Given the description of an element on the screen output the (x, y) to click on. 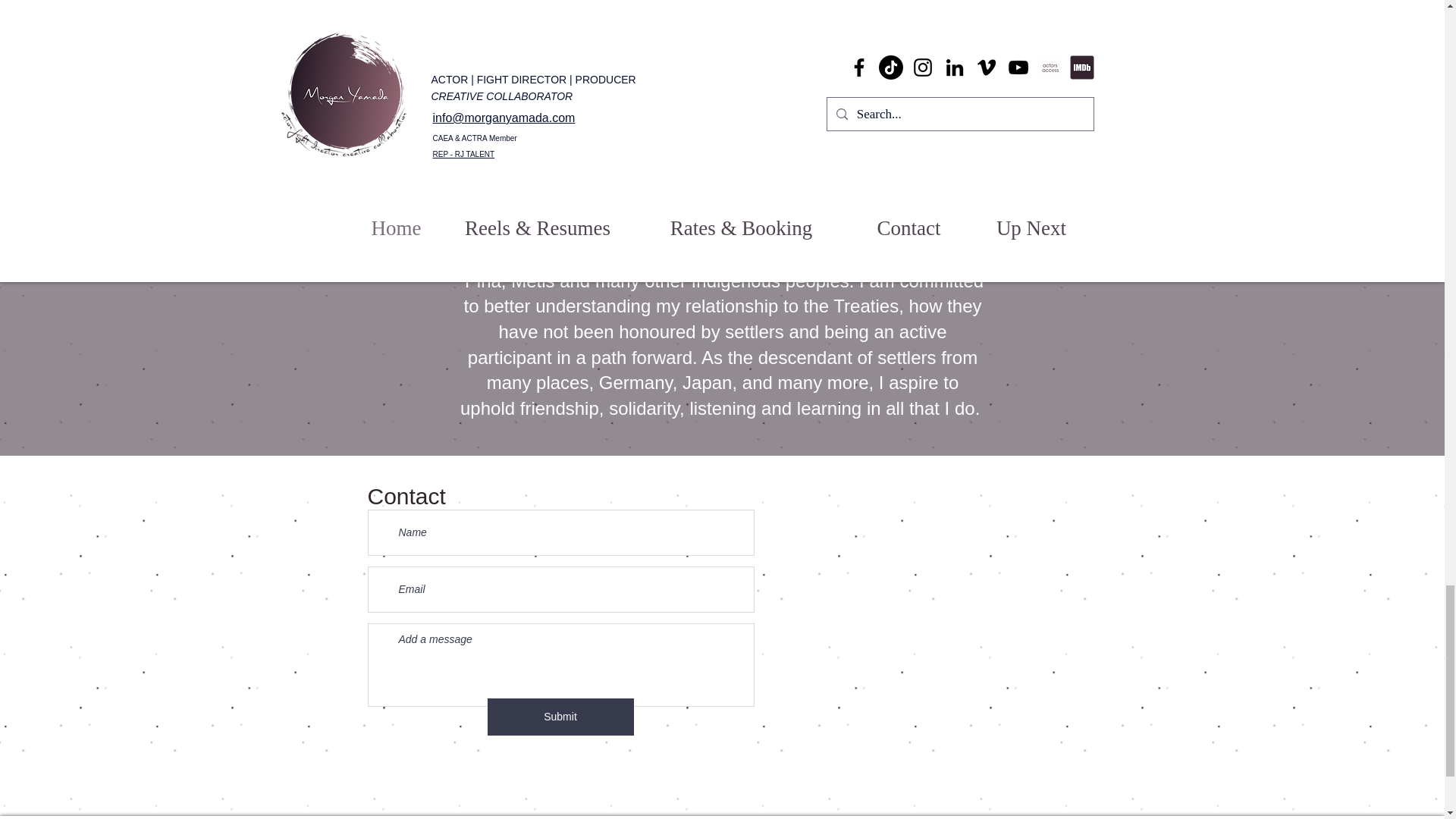
Submit (559, 716)
